Given the description of an element on the screen output the (x, y) to click on. 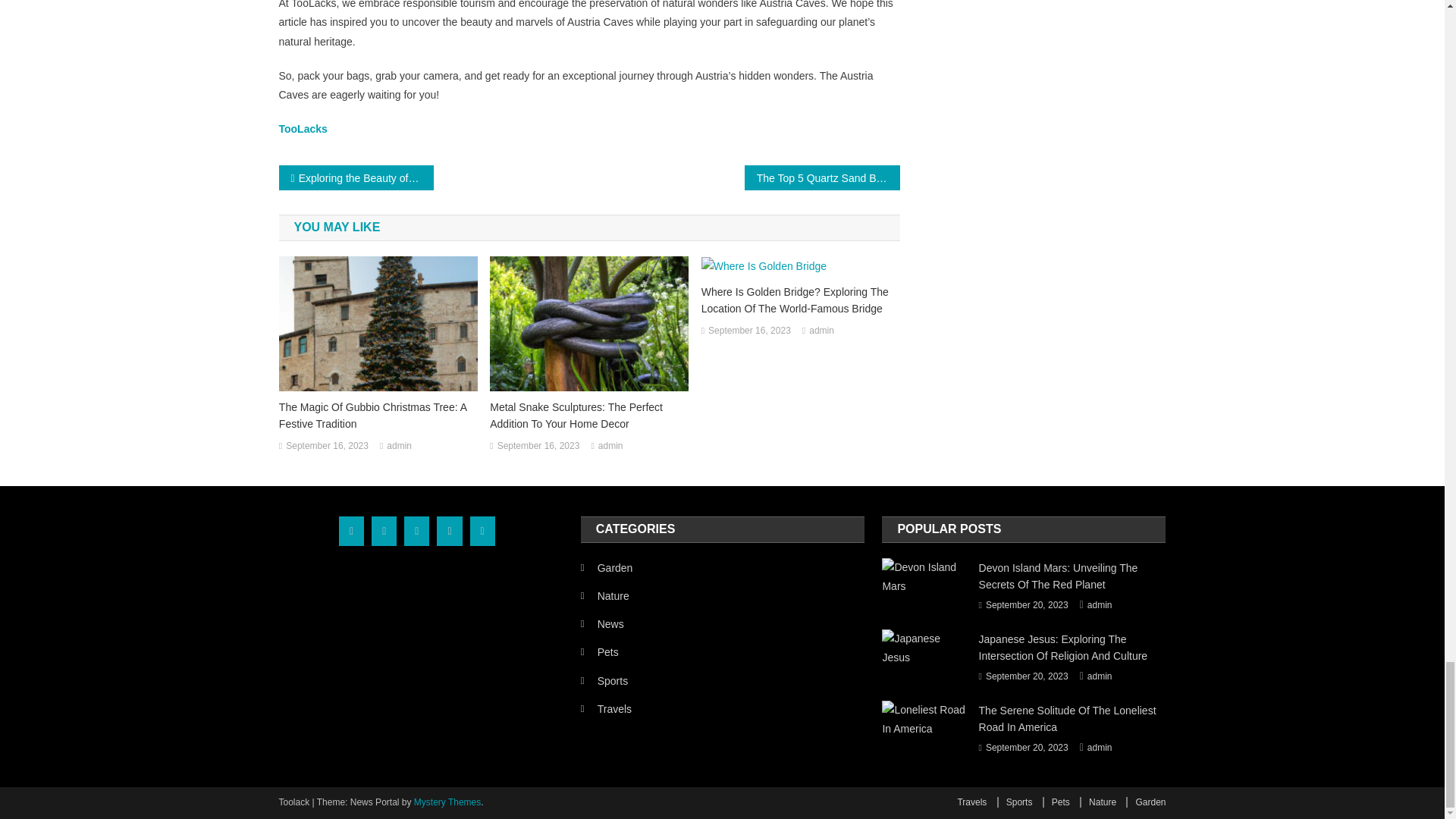
The Top 5 Quartz Sand Beaches in the World (821, 177)
admin (399, 446)
The Magic Of Gubbio Christmas Tree: A Festive Tradition (378, 415)
Exploring the Beauty of Croatia in Spring (356, 177)
admin (610, 446)
September 16, 2023 (326, 446)
admin (821, 330)
September 16, 2023 (538, 446)
September 16, 2023 (748, 330)
TooLacks (303, 128)
